Given the description of an element on the screen output the (x, y) to click on. 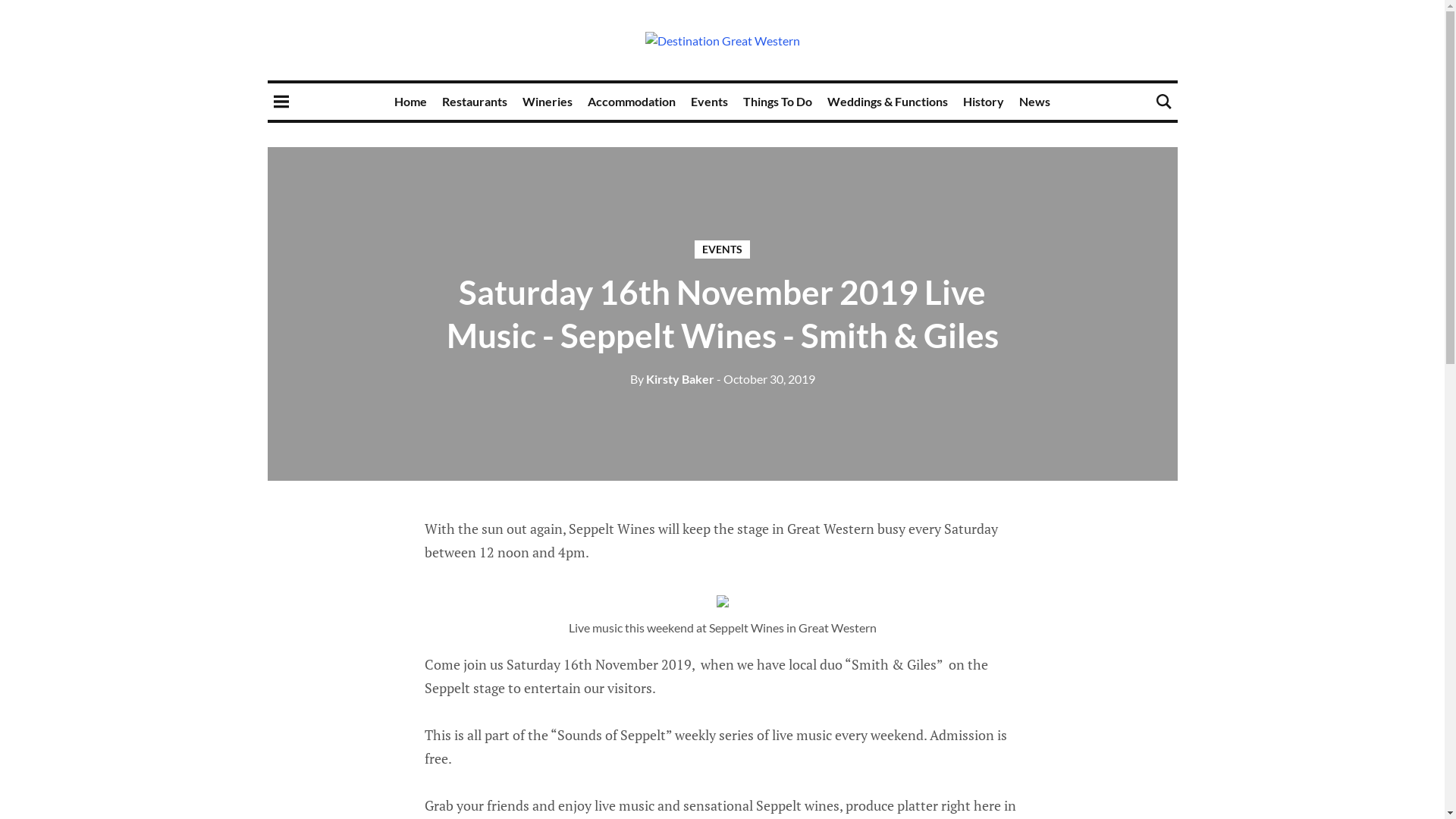
EVENTS Element type: text (721, 249)
By Kirsty Baker Element type: text (671, 378)
History Element type: text (983, 101)
News Element type: text (1034, 101)
Accommodation Element type: text (631, 101)
Home Element type: text (410, 101)
Events Element type: text (709, 101)
Wineries Element type: text (547, 101)
Restaurants Element type: text (474, 101)
Things To Do Element type: text (777, 101)
Weddings & Functions Element type: text (887, 101)
